Given the description of an element on the screen output the (x, y) to click on. 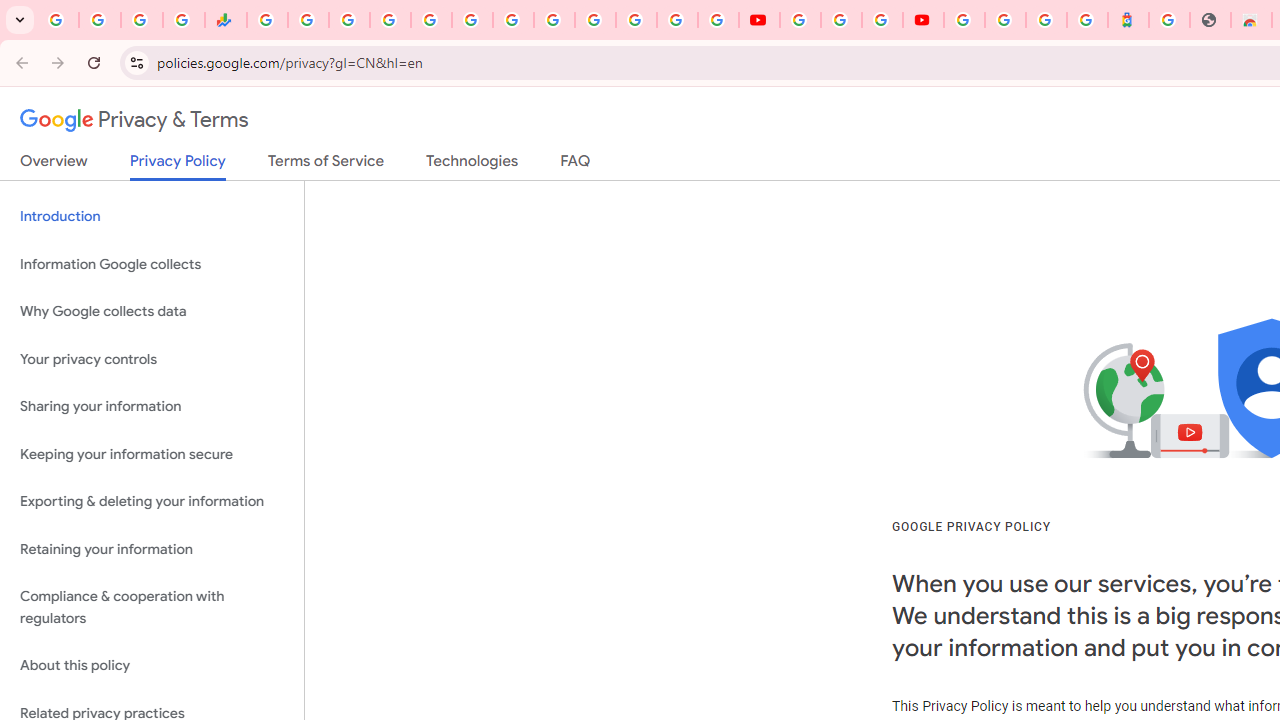
Keeping your information secure (152, 453)
Sharing your information (152, 407)
Why Google collects data (152, 312)
Privacy & Terms (134, 120)
Sign in - Google Accounts (389, 20)
YouTube (553, 20)
YouTube (758, 20)
About this policy (152, 666)
Retaining your information (152, 548)
